Given the description of an element on the screen output the (x, y) to click on. 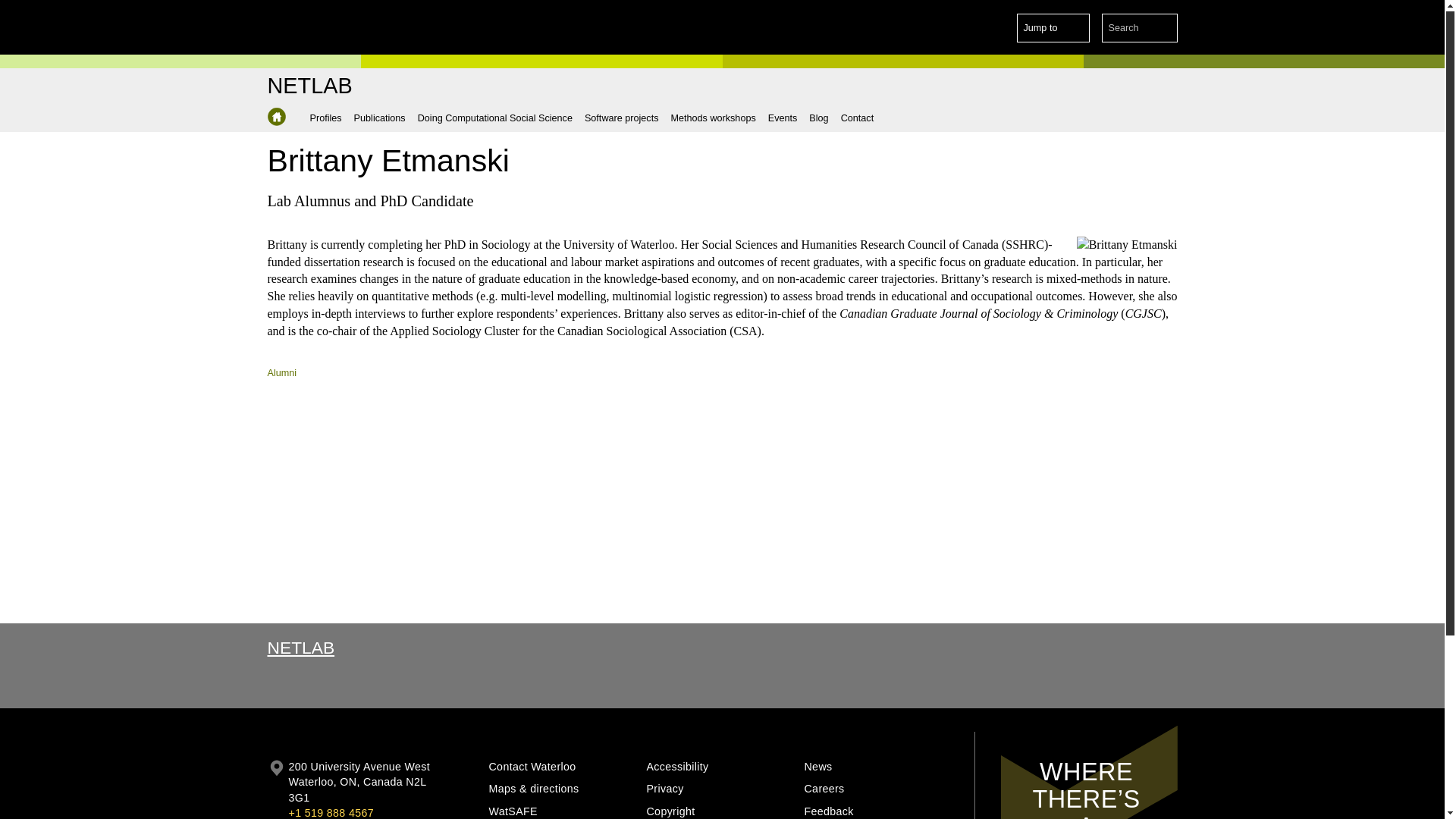
Accessibility (719, 766)
NETLAB (300, 647)
University of Waterloo Home (331, 27)
Methods workshops (712, 117)
Events (782, 117)
Privacy (719, 788)
NetLab Home (275, 116)
Contact (857, 117)
NetLab Home (309, 85)
Contact Waterloo (560, 766)
